Given the description of an element on the screen output the (x, y) to click on. 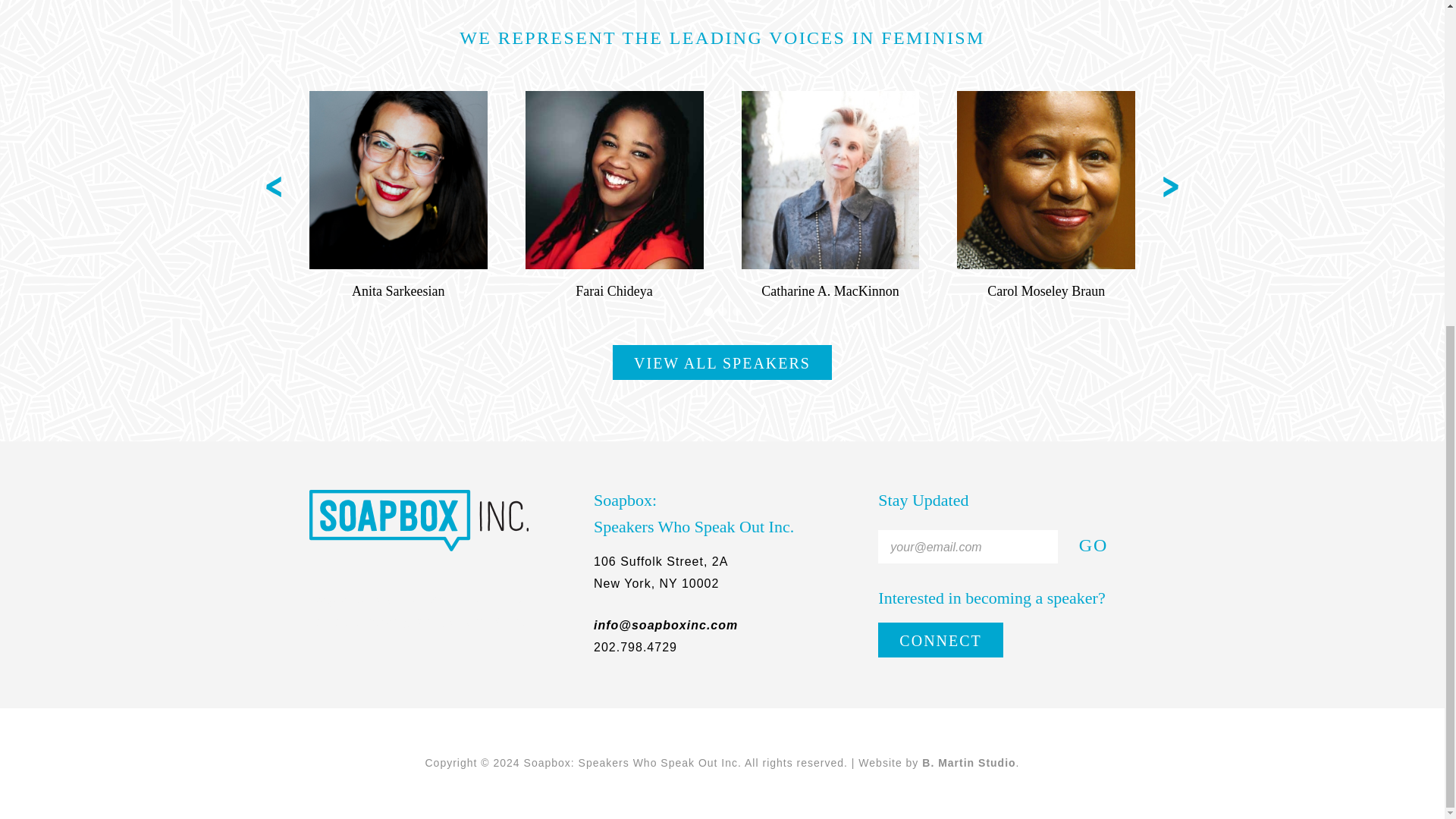
Carol Moseley Braun (1046, 290)
Farai Chideya (614, 179)
Carol Moseley Braun (1046, 290)
Anita Sarkeesian (398, 290)
Catharine A. MacKinnon (830, 179)
Anita Sarkeesian (398, 290)
Farai Chideya (613, 290)
Carol Moseley Braun (1045, 179)
Catharine A. MacKinnon (829, 290)
Catharine A. MacKinnon (829, 290)
Anita Sarkeesian (397, 179)
go (1083, 544)
Farai Chideya (613, 290)
